Given the description of an element on the screen output the (x, y) to click on. 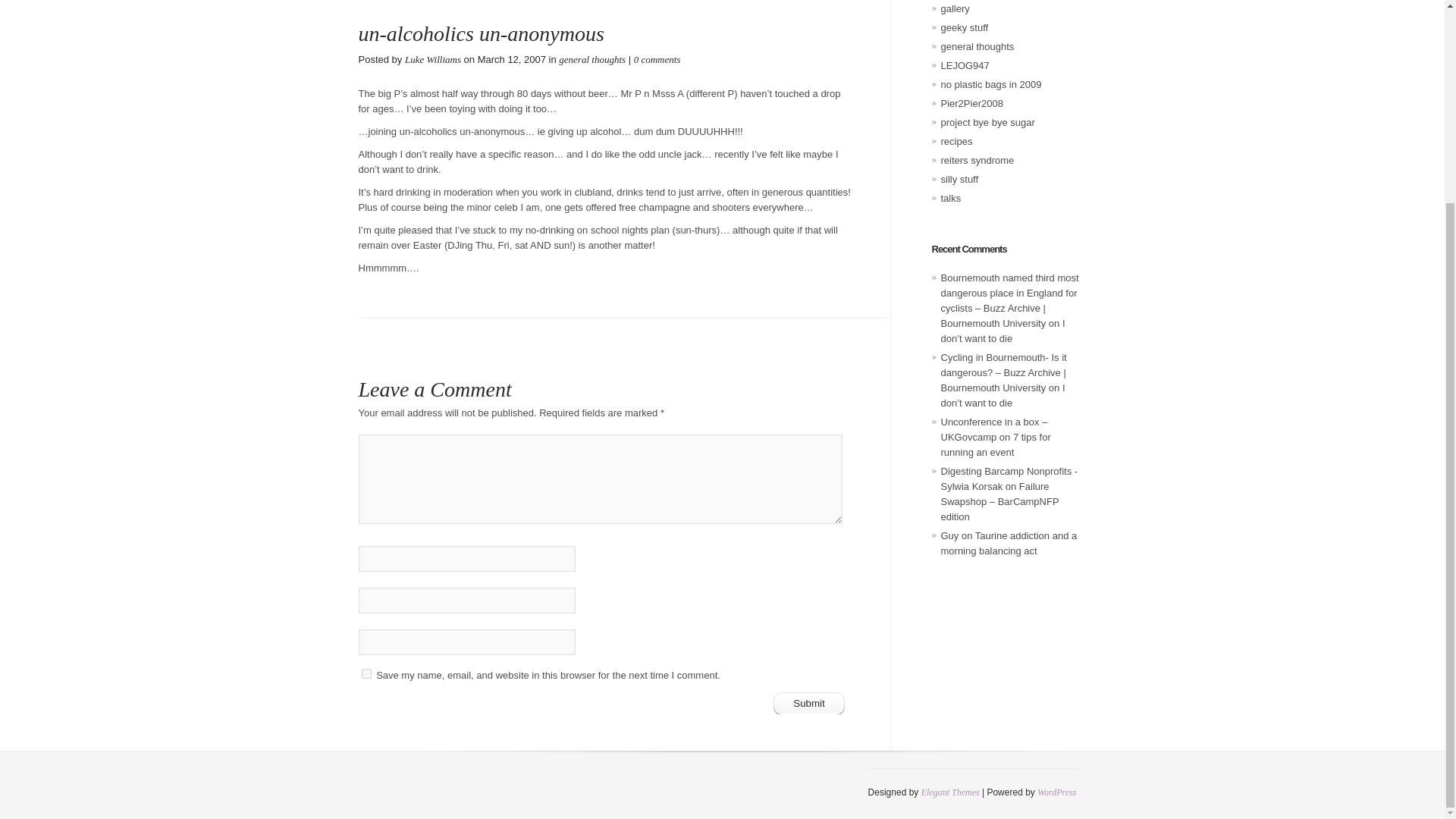
WordPress (1055, 792)
Digesting Barcamp Nonprofits - Sylwia Korsak (1008, 479)
Posts by Luke Williams (432, 59)
0 comments (657, 59)
reiters syndrome (976, 160)
general thoughts (976, 46)
Submit (809, 703)
Pier2Pier2008 (971, 102)
silly stuff (959, 179)
general thoughts (592, 59)
7 tips for running an event (994, 444)
Luke Williams (432, 59)
talks (950, 197)
no plastic bags in 2009 (990, 84)
Taurine addiction and a morning balancing act (1008, 542)
